Given the description of an element on the screen output the (x, y) to click on. 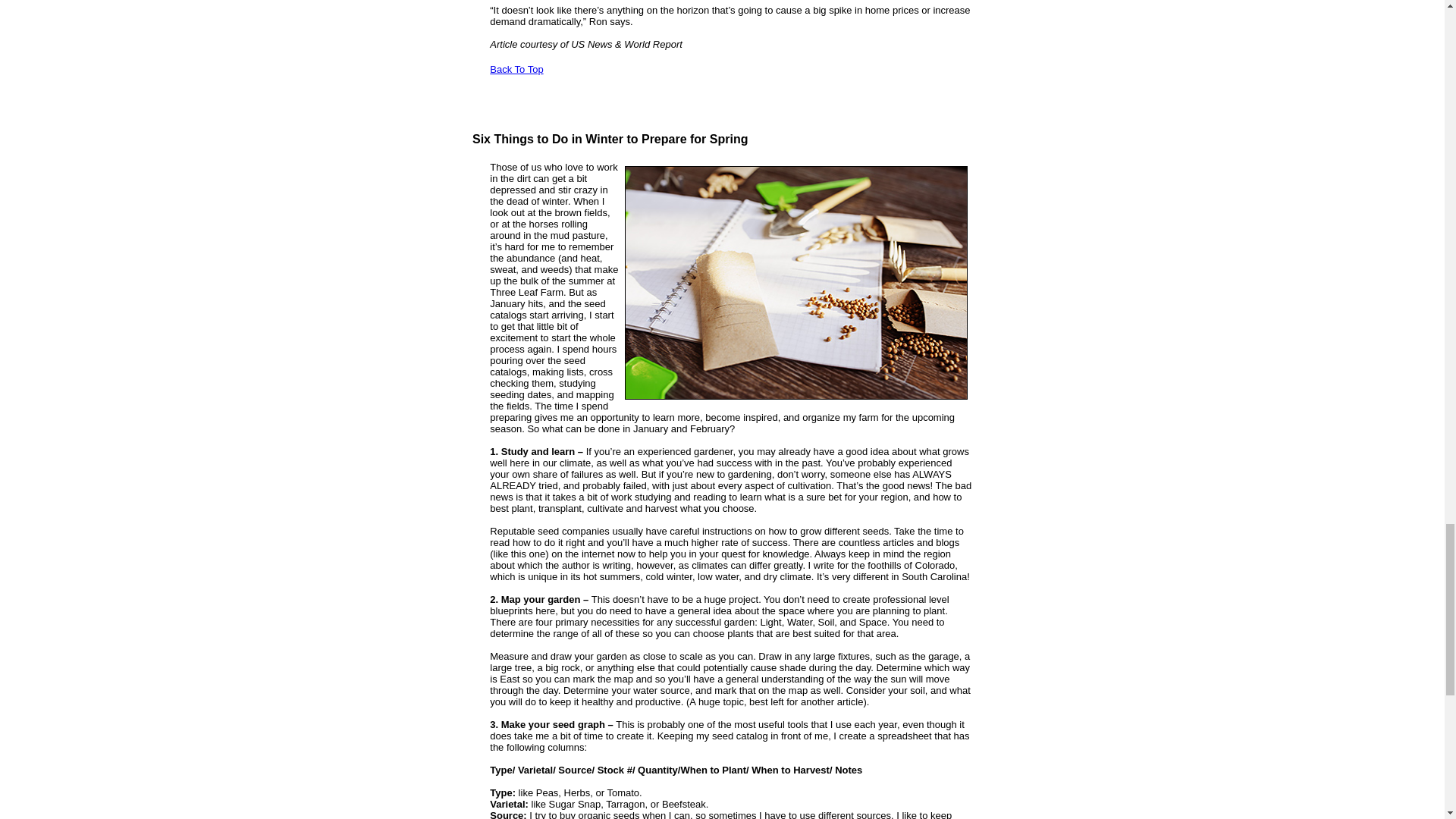
Back To Top (516, 68)
Garden (796, 282)
